Given the description of an element on the screen output the (x, y) to click on. 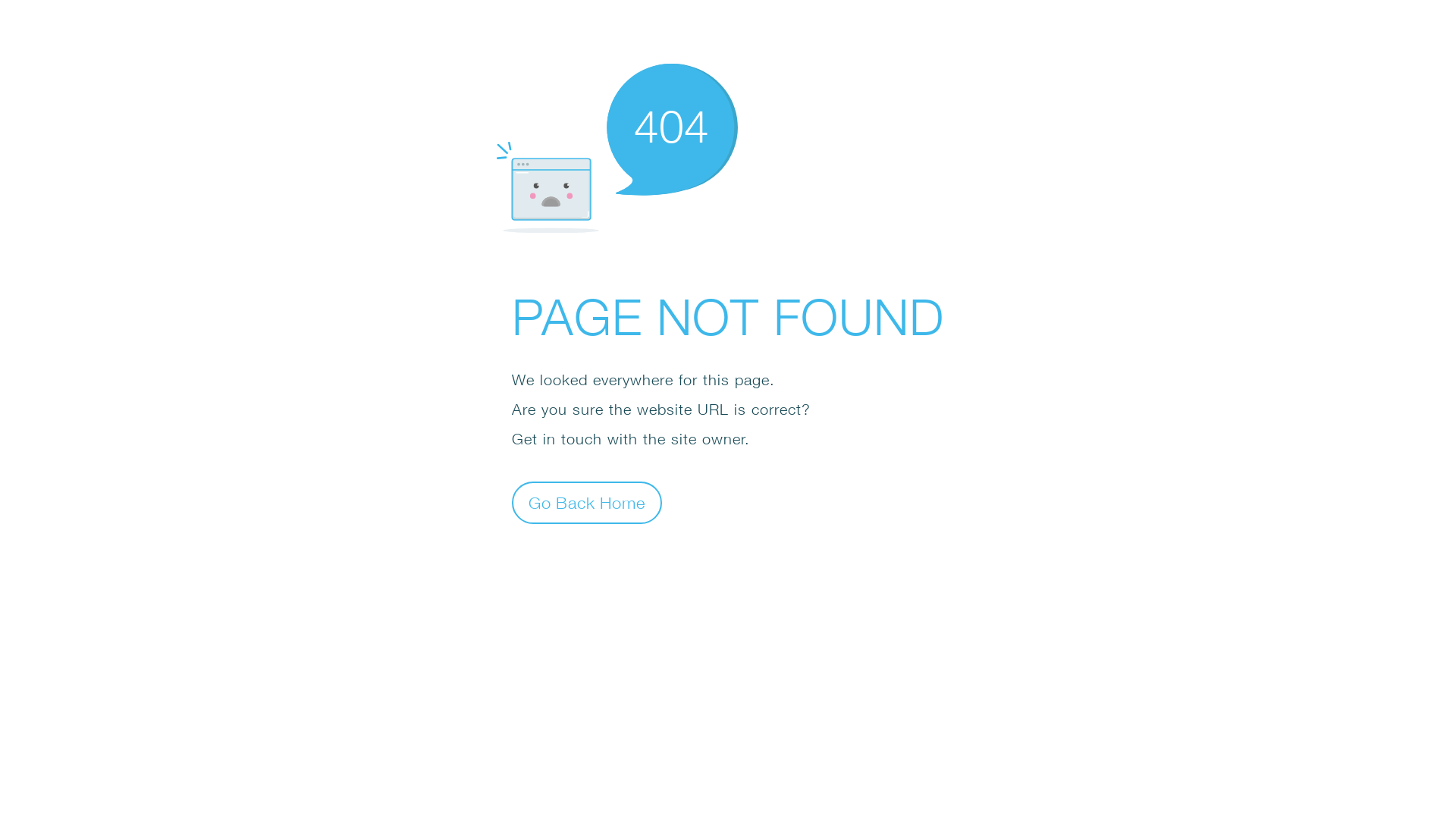
Go Back Home Element type: text (586, 502)
